Given the description of an element on the screen output the (x, y) to click on. 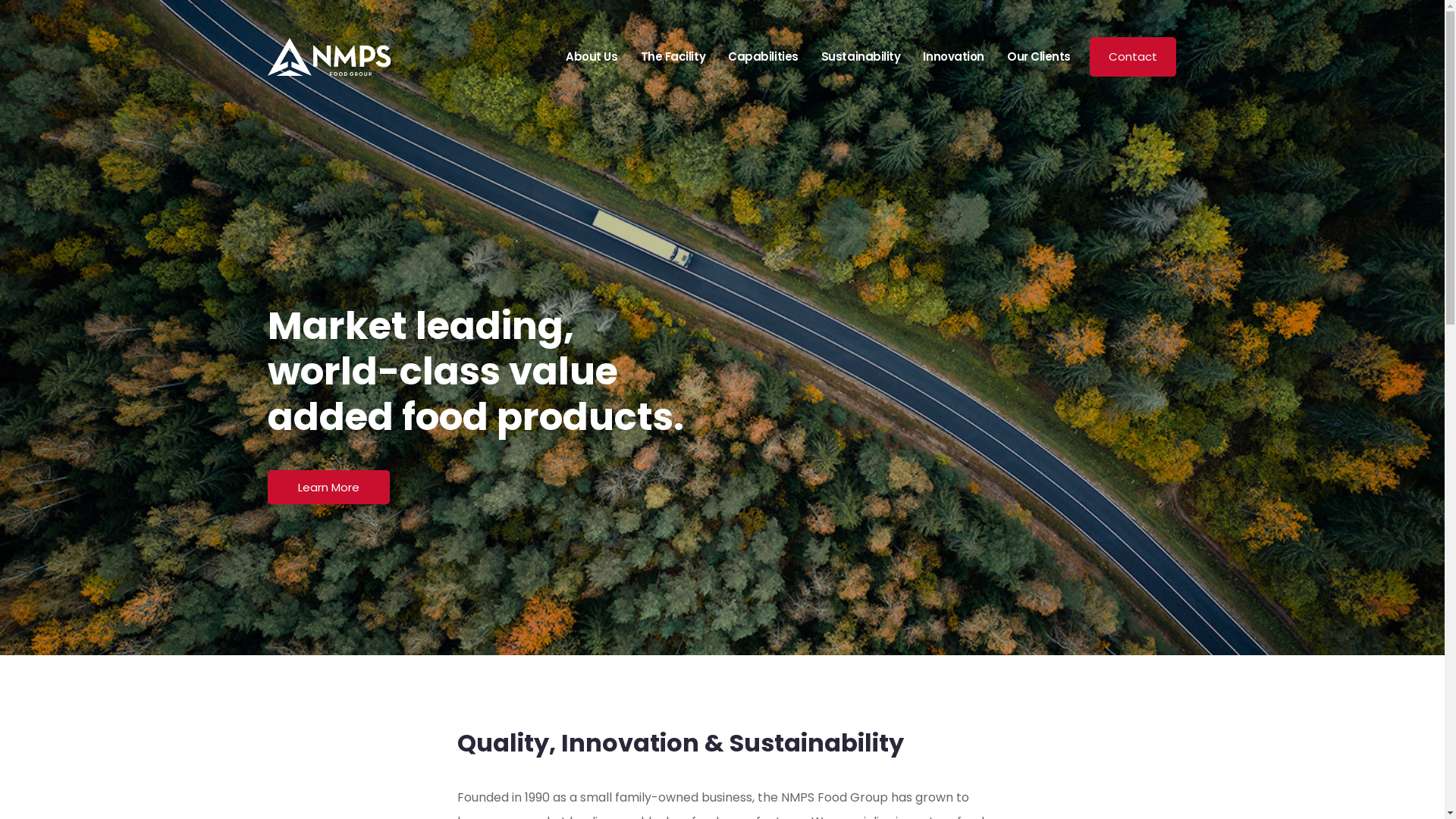
Capabilities Element type: text (763, 56)
Our Clients Element type: text (1038, 56)
Innovation Element type: text (953, 56)
Learn More Element type: text (327, 487)
The Facility Element type: text (673, 56)
Contact Element type: text (1132, 57)
Sustainability Element type: text (860, 56)
About Us Element type: text (591, 56)
